Given the description of an element on the screen output the (x, y) to click on. 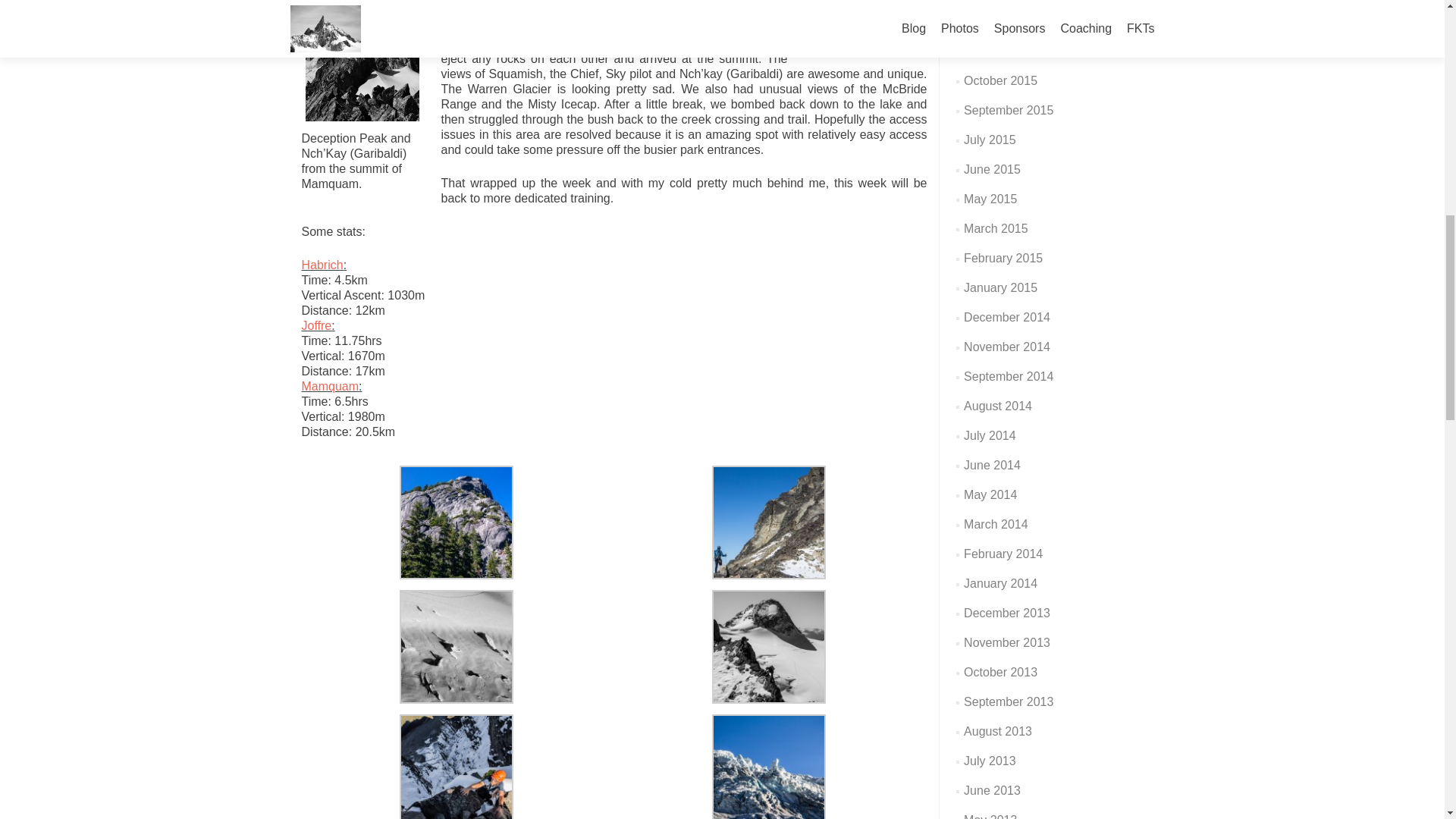
Habrich (322, 264)
Alpine Time (768, 645)
Alpine Time (455, 521)
Alpine Time (768, 769)
Mamquam (330, 386)
Joffre (316, 325)
Alpine Time (455, 769)
Alpine Time (362, 64)
Alpine Time (768, 521)
Alpine Time (455, 645)
